Given the description of an element on the screen output the (x, y) to click on. 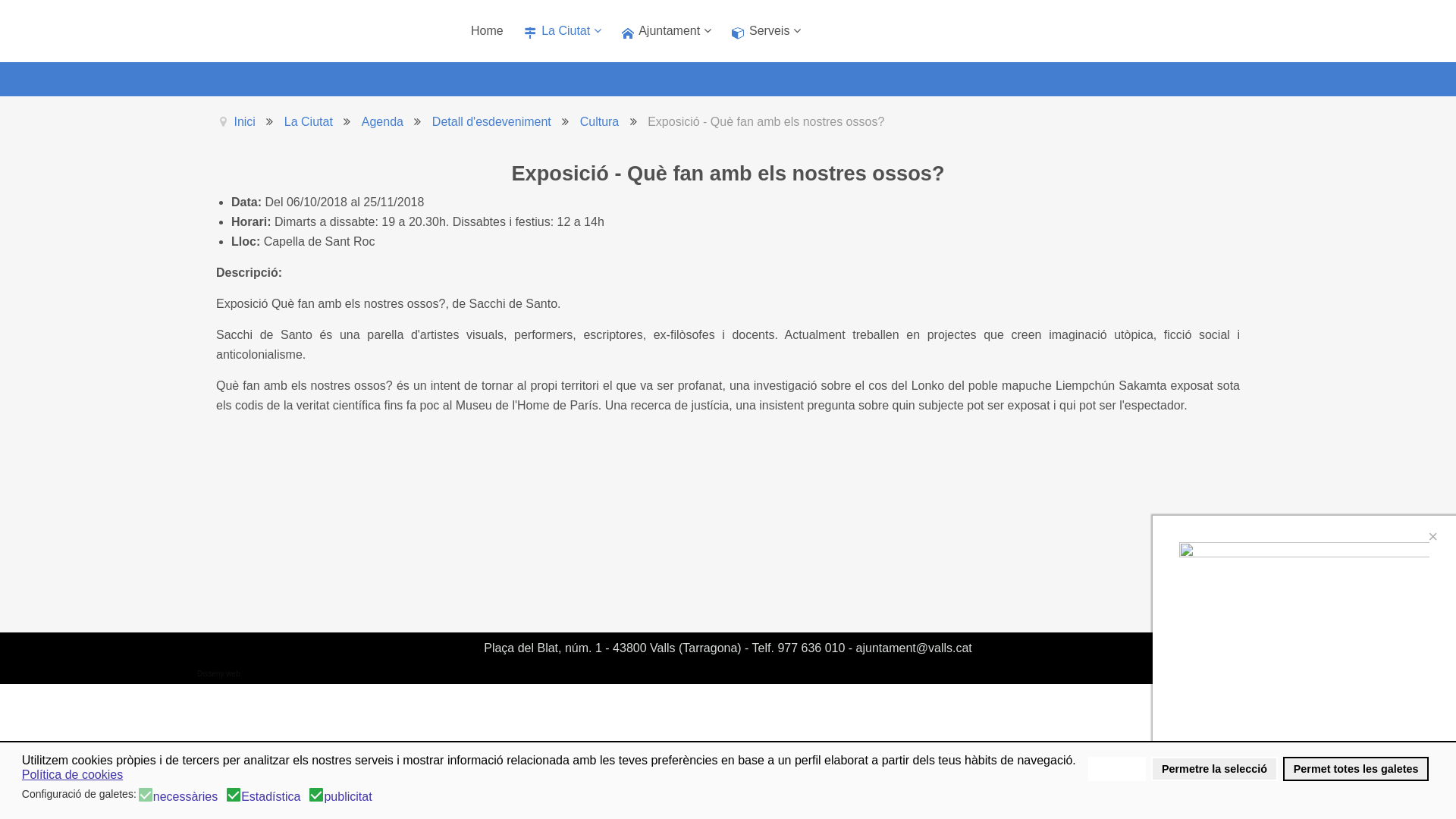
La Ciutat Element type: text (308, 121)
publicitat Element type: text (349, 795)
Ajuntament Element type: text (664, 30)
Serveis Element type: text (764, 30)
Cultura Element type: text (599, 121)
Inici Element type: text (243, 121)
Detall d'esdeveniment Element type: text (491, 121)
Home Element type: text (487, 30)
Disseny web Element type: text (218, 674)
Agenda Element type: text (382, 121)
Permet totes les galetes Element type: text (1355, 768)
La Ciutat Element type: text (560, 30)
